Given the description of an element on the screen output the (x, y) to click on. 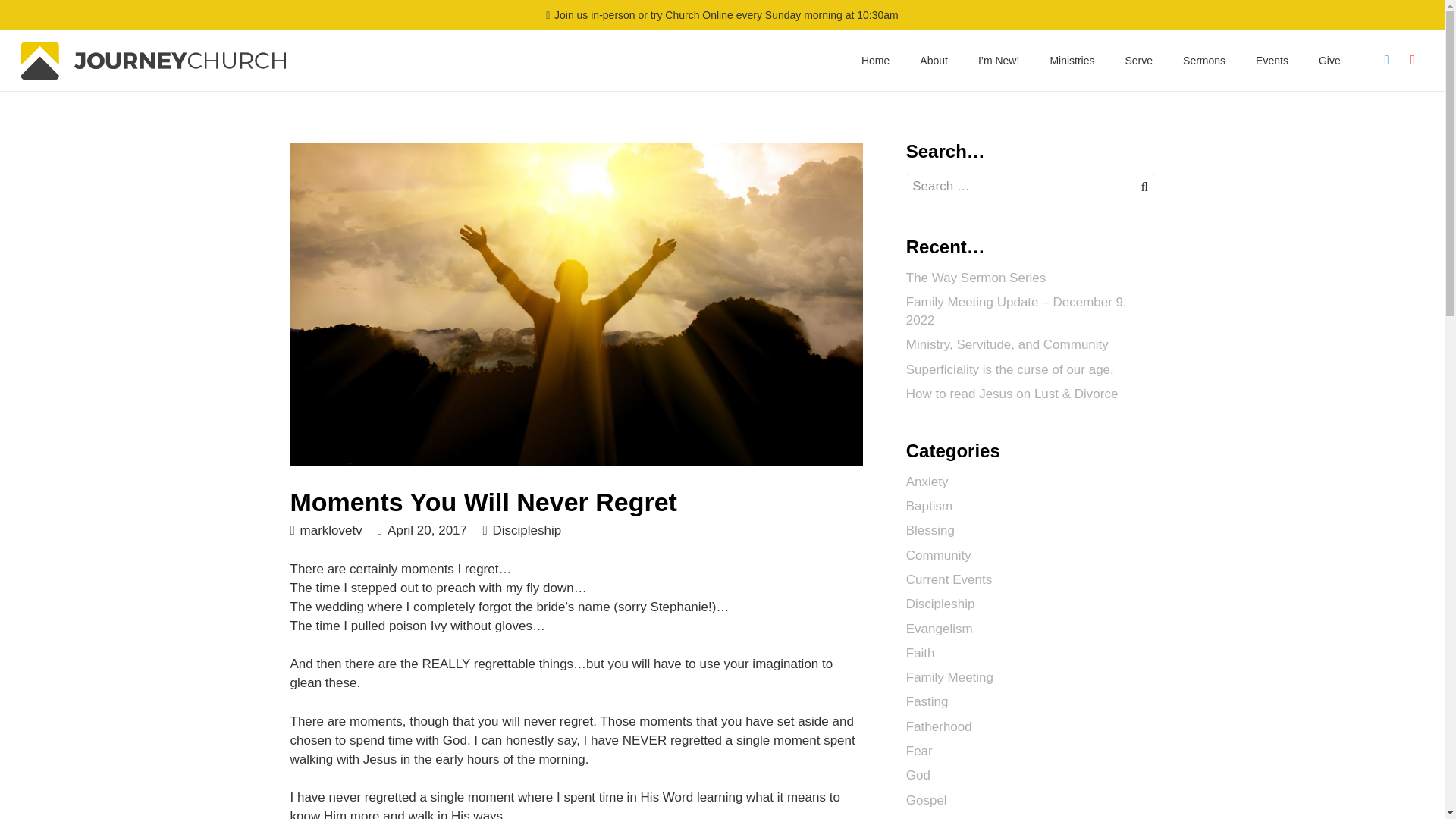
Events (1271, 60)
Home (874, 60)
About (933, 60)
Discipleship (526, 530)
marklovetv (330, 529)
YouTube (1412, 60)
Sermons (1203, 60)
Serve (1139, 60)
Facebook (1386, 60)
